Given the description of an element on the screen output the (x, y) to click on. 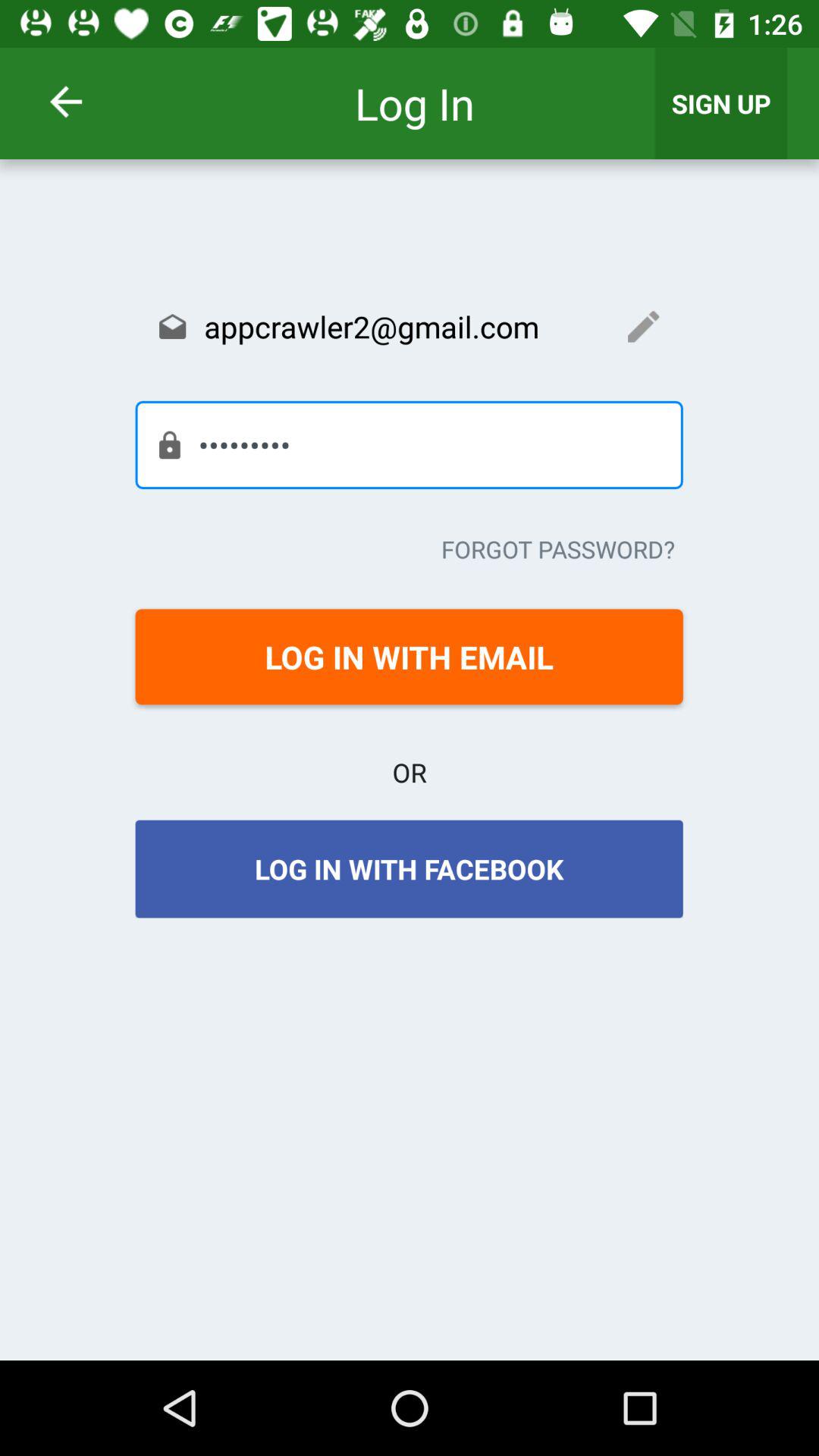
click sign up icon (721, 103)
